Given the description of an element on the screen output the (x, y) to click on. 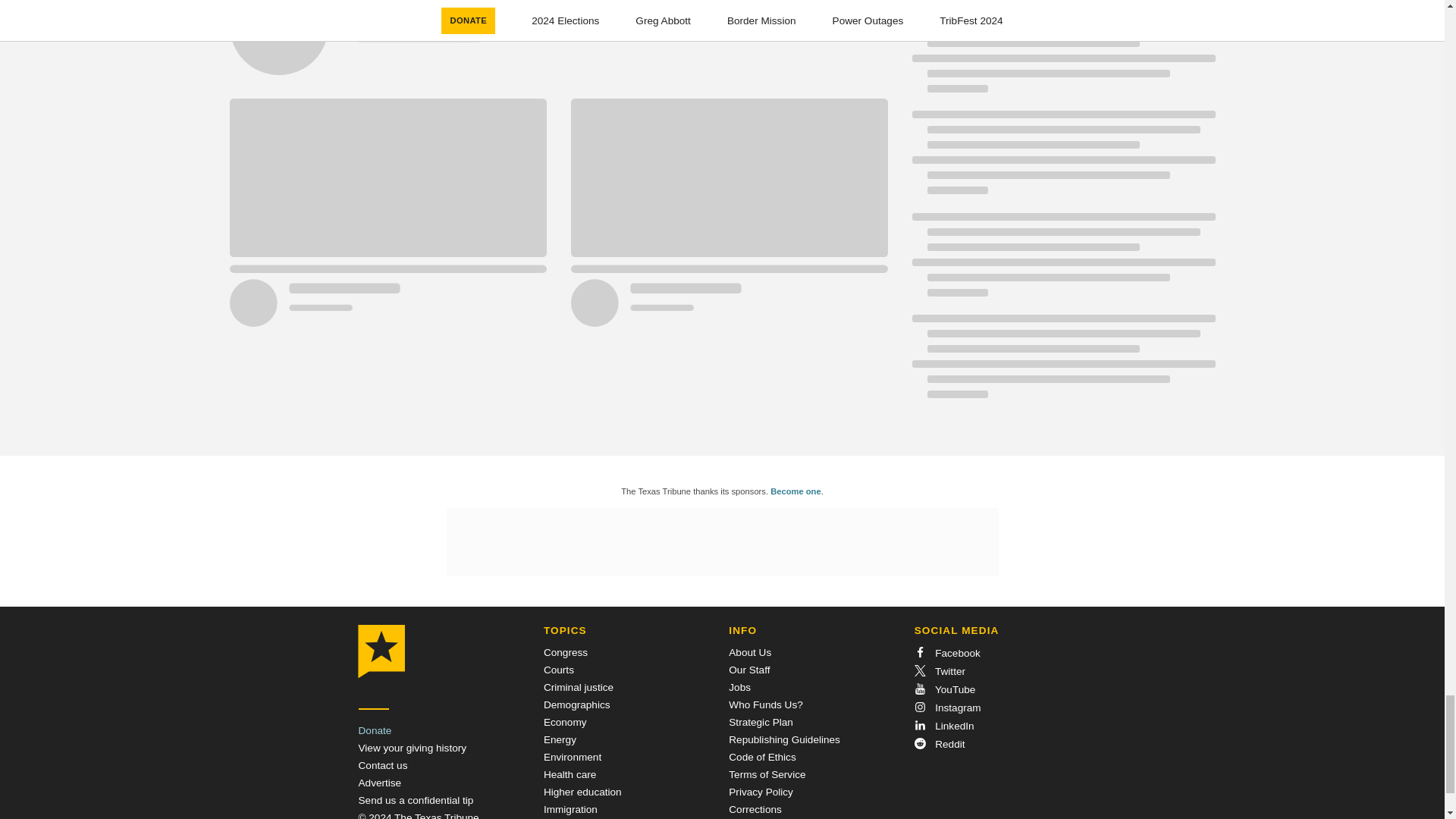
Code of Ethics (761, 756)
Contact us (382, 765)
Send a Tip (415, 799)
Donate (374, 730)
Corrections (755, 808)
View your giving history (411, 747)
Loading indicator (557, 47)
Advertise (379, 782)
Republishing Guidelines (784, 739)
Strategic Plan (761, 722)
Privacy Policy (761, 791)
About Us (750, 652)
Terms of Service (767, 774)
Who Funds Us? (765, 704)
